Given the description of an element on the screen output the (x, y) to click on. 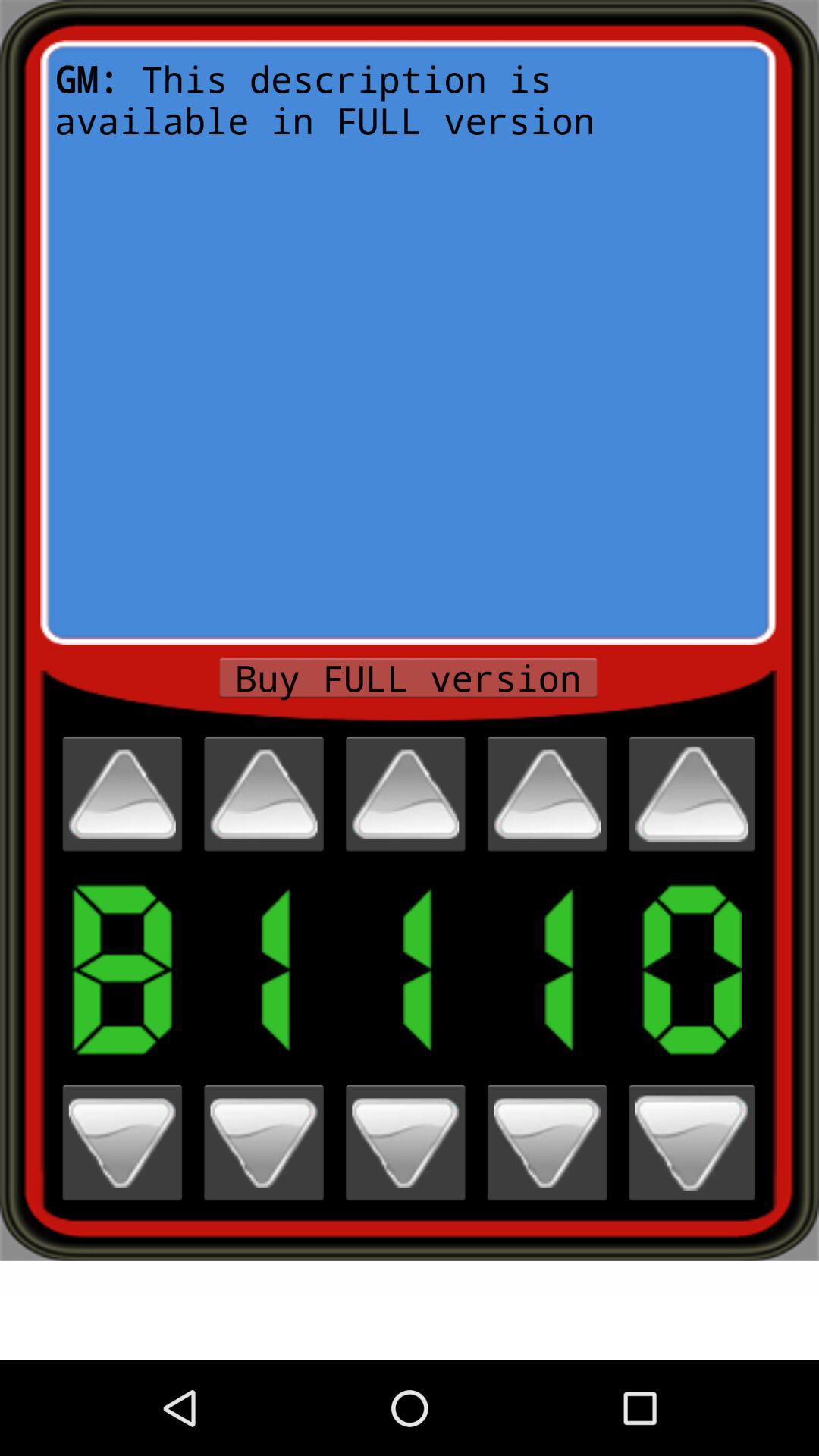
scroll down one digit (263, 1142)
